Given the description of an element on the screen output the (x, y) to click on. 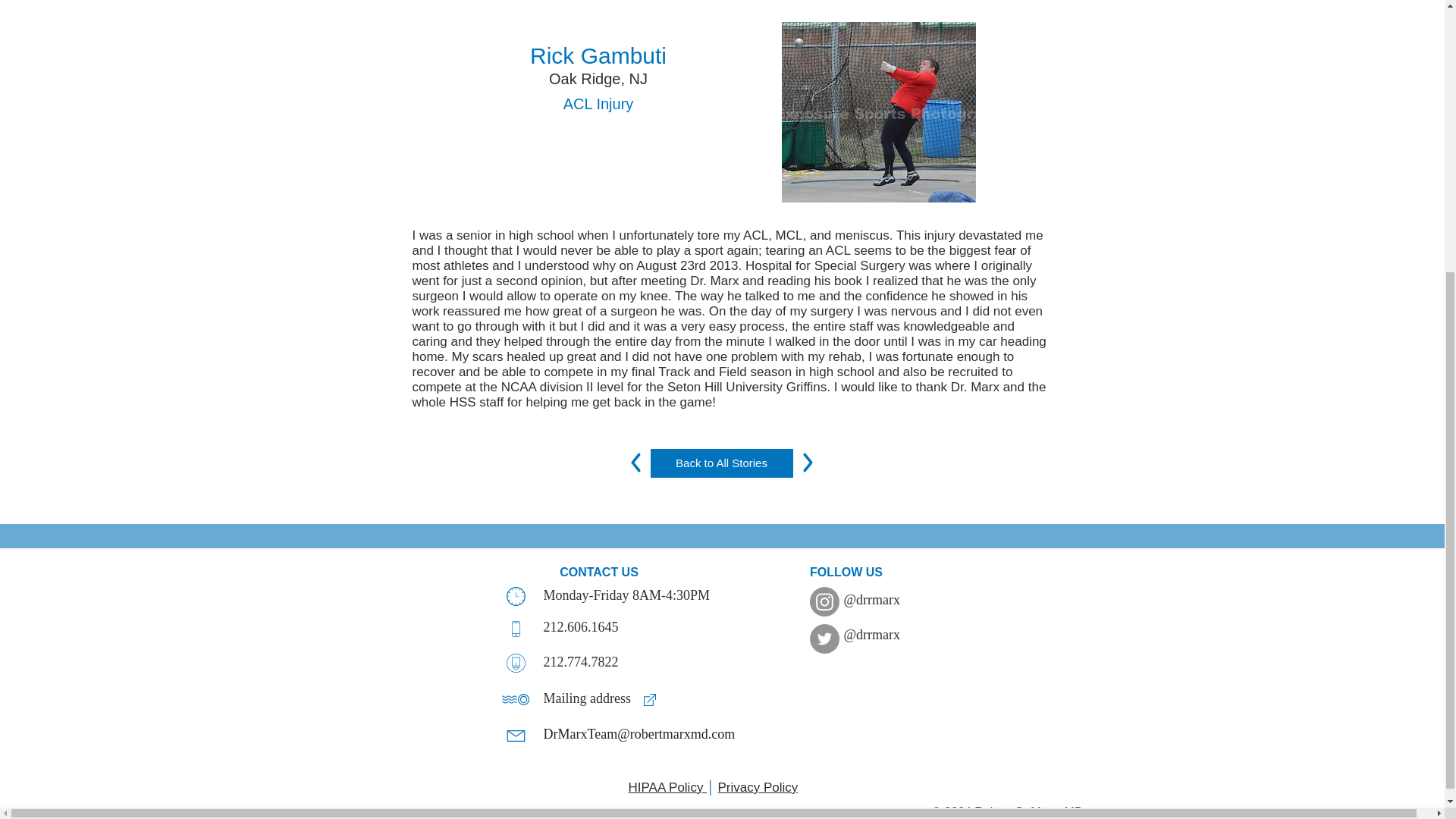
Monday-Friday 8AM-4:30PM (626, 595)
HIPAA Policy  (666, 787)
CONTACT US (599, 571)
Mailing address (586, 698)
212.606.1645 (580, 626)
Back to All Stories (721, 462)
